Given the description of an element on the screen output the (x, y) to click on. 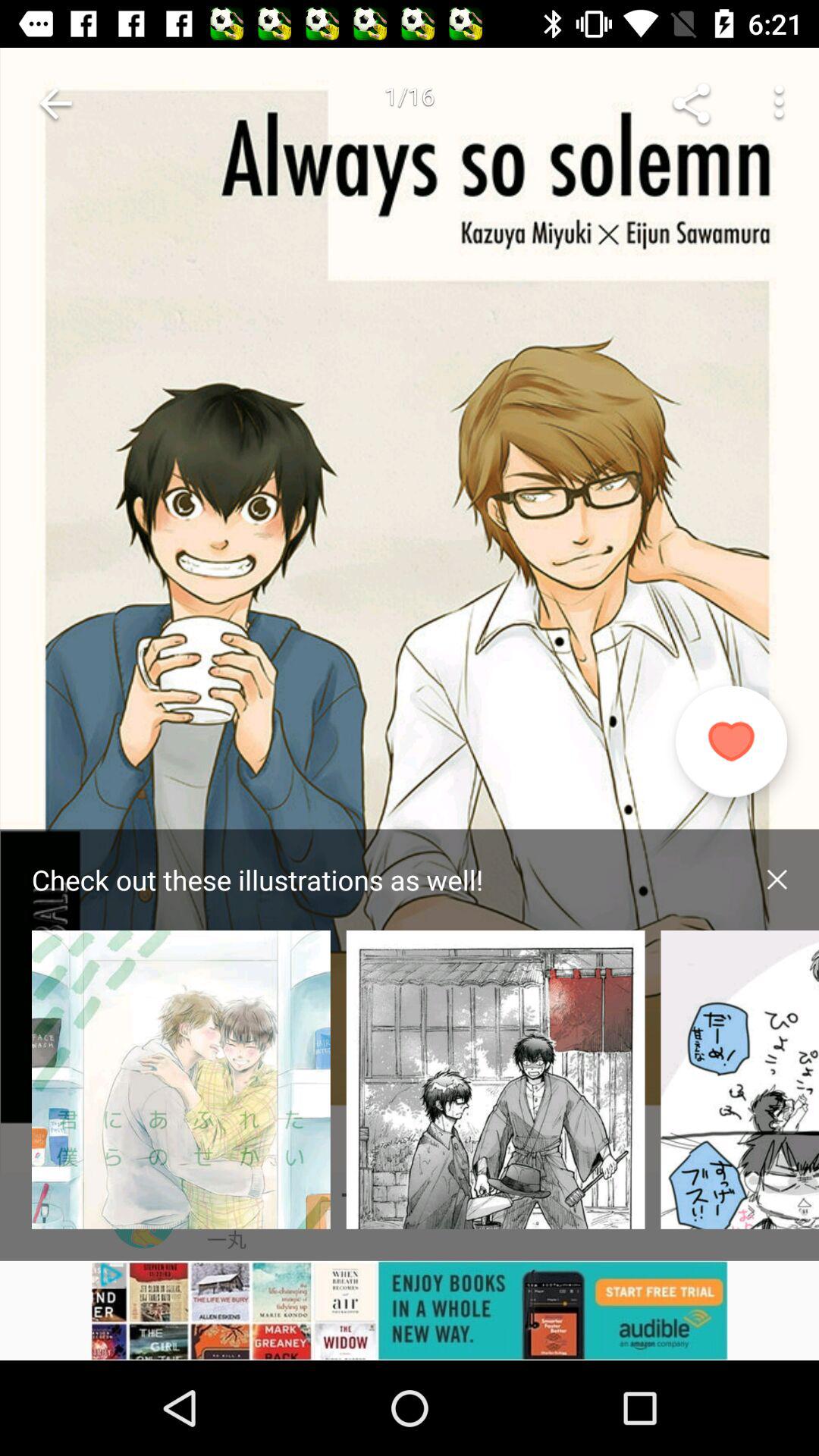
select the first picture below the text (180, 1079)
